Given the description of an element on the screen output the (x, y) to click on. 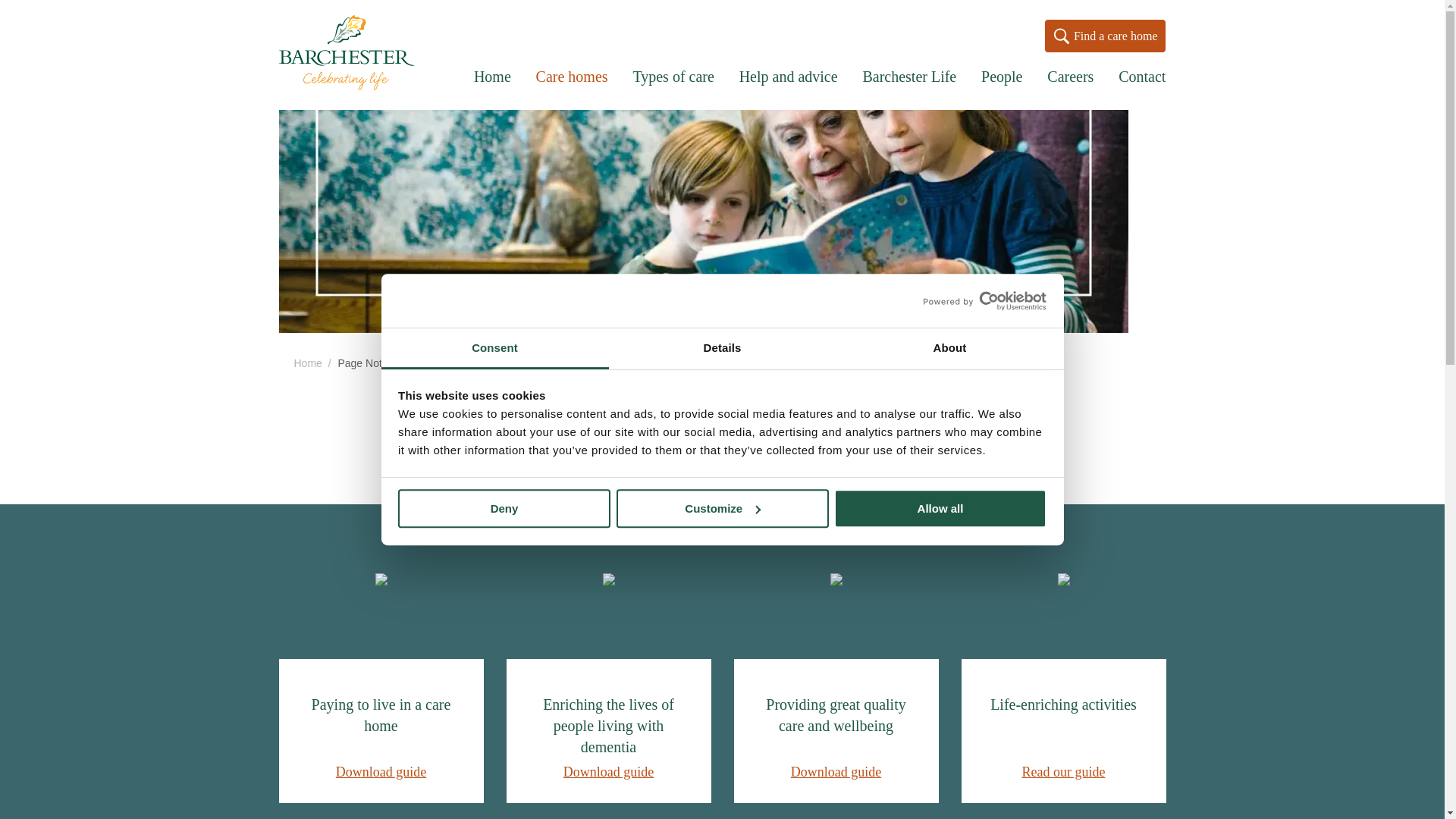
Details (721, 348)
About (948, 348)
Consent (494, 348)
